Given the description of an element on the screen output the (x, y) to click on. 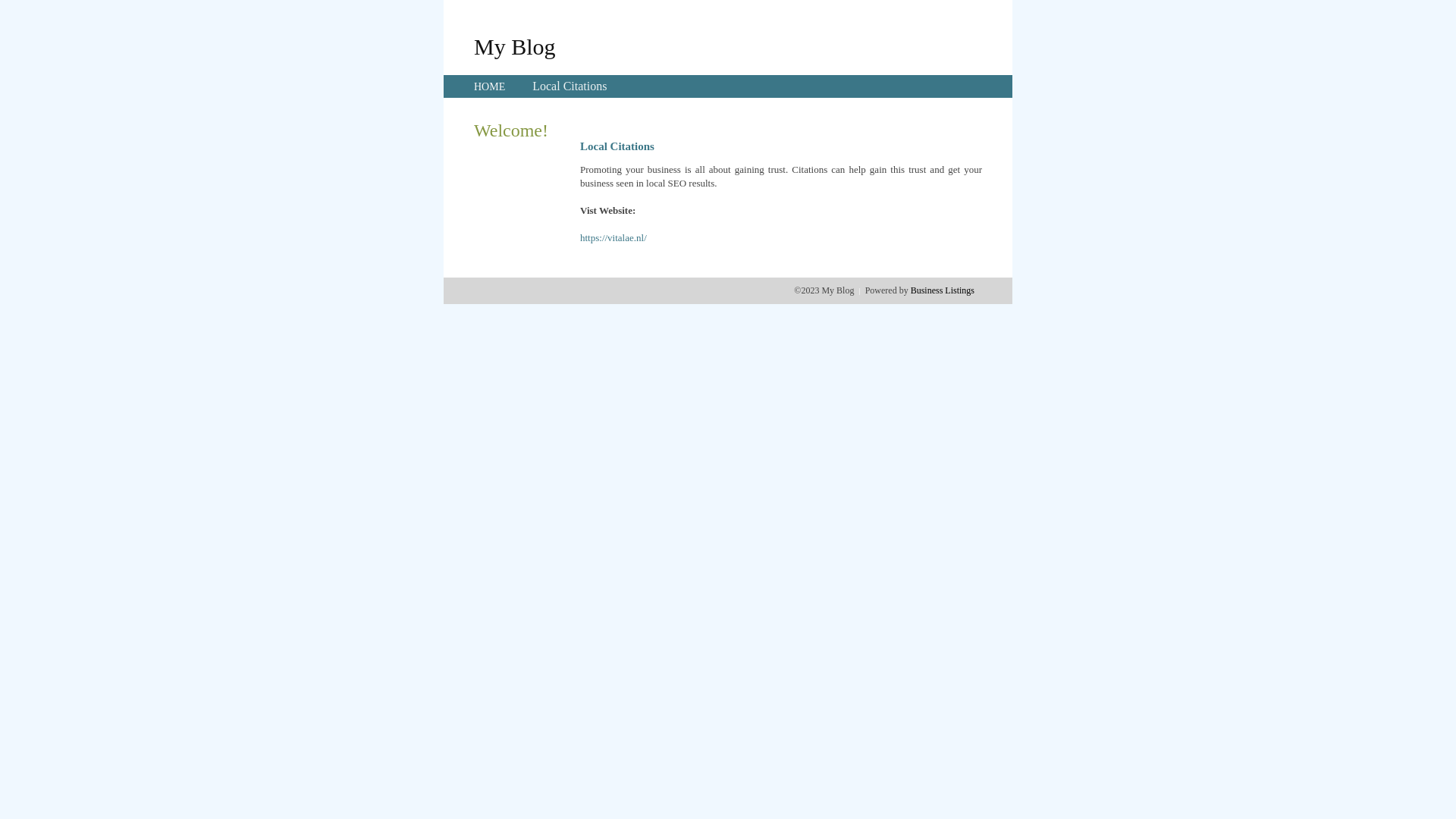
Local Citations Element type: text (569, 85)
Business Listings Element type: text (942, 290)
My Blog Element type: text (514, 46)
https://vitalae.nl/ Element type: text (613, 237)
HOME Element type: text (489, 86)
